Given the description of an element on the screen output the (x, y) to click on. 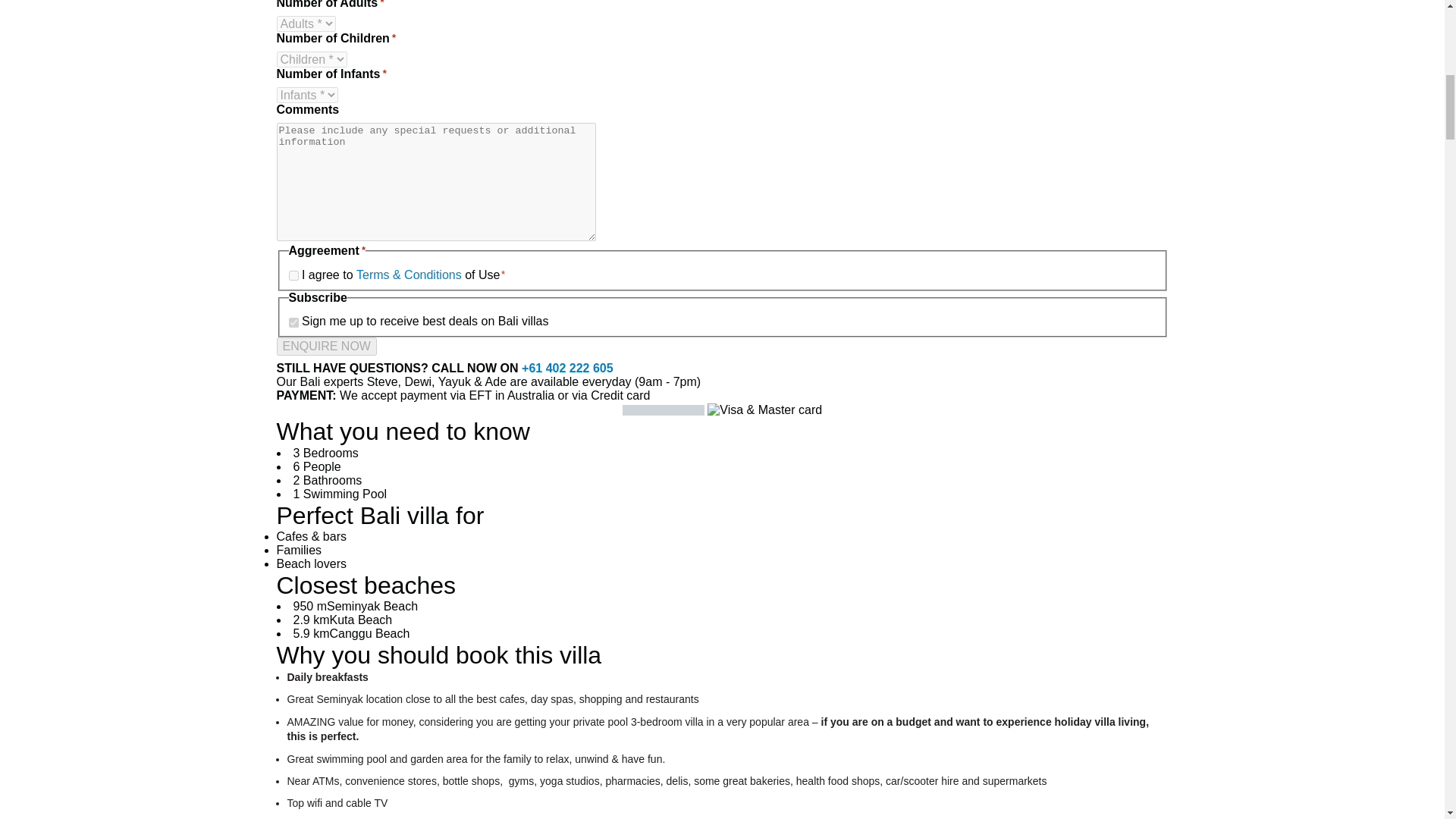
Sign me up to receive best deals on Bali villas (293, 322)
1 (293, 275)
ENQUIRE NOW (325, 346)
